Given the description of an element on the screen output the (x, y) to click on. 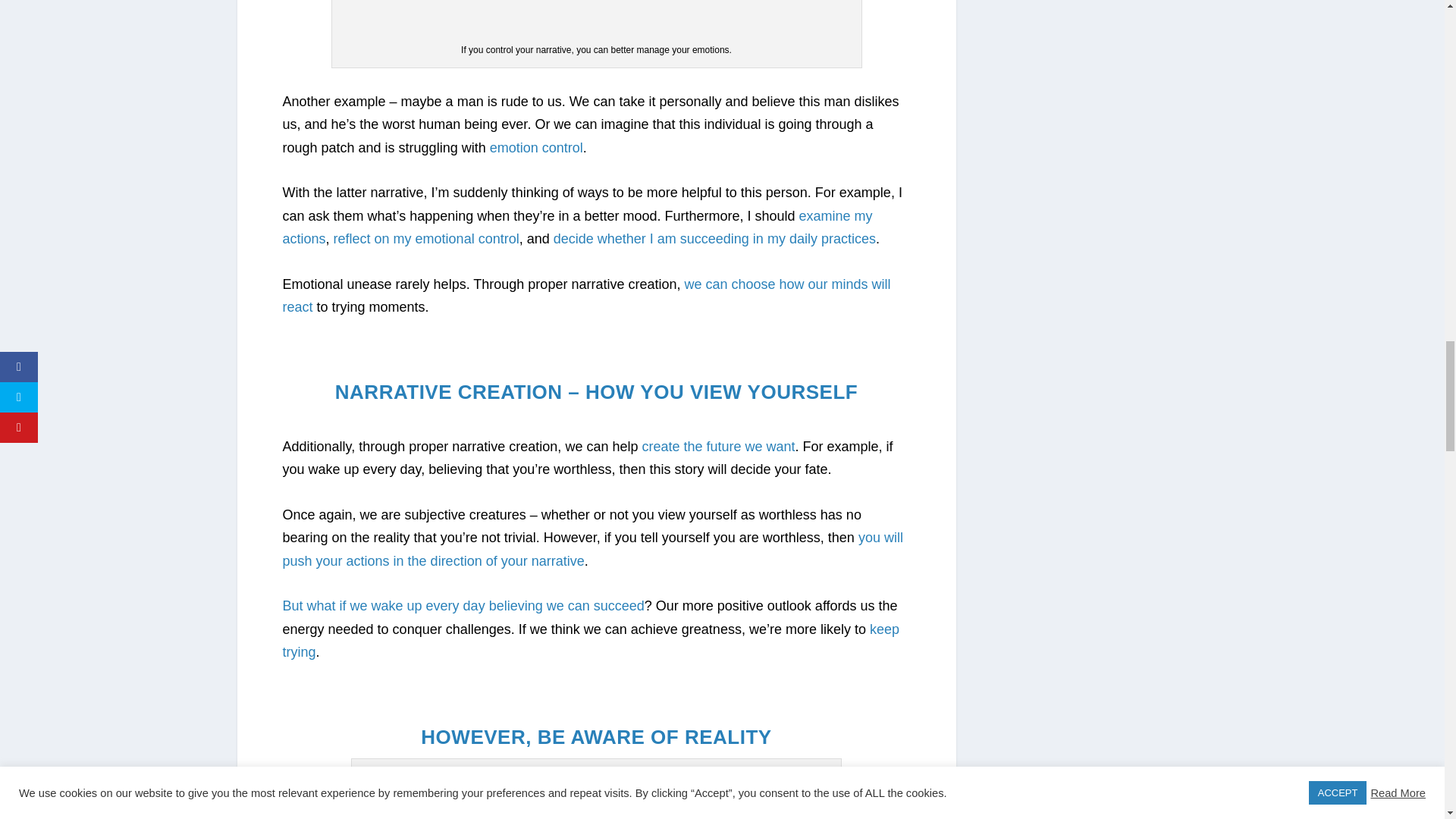
examine my actions (577, 227)
we can choose how our minds will react (585, 295)
emotion control (536, 147)
keep trying (590, 640)
But what if we wake up every day believing we can succeed (462, 605)
decide whether I am succeeding in my daily practices (714, 238)
reflect on my emotional control (426, 238)
create the future we want (718, 446)
